Given the description of an element on the screen output the (x, y) to click on. 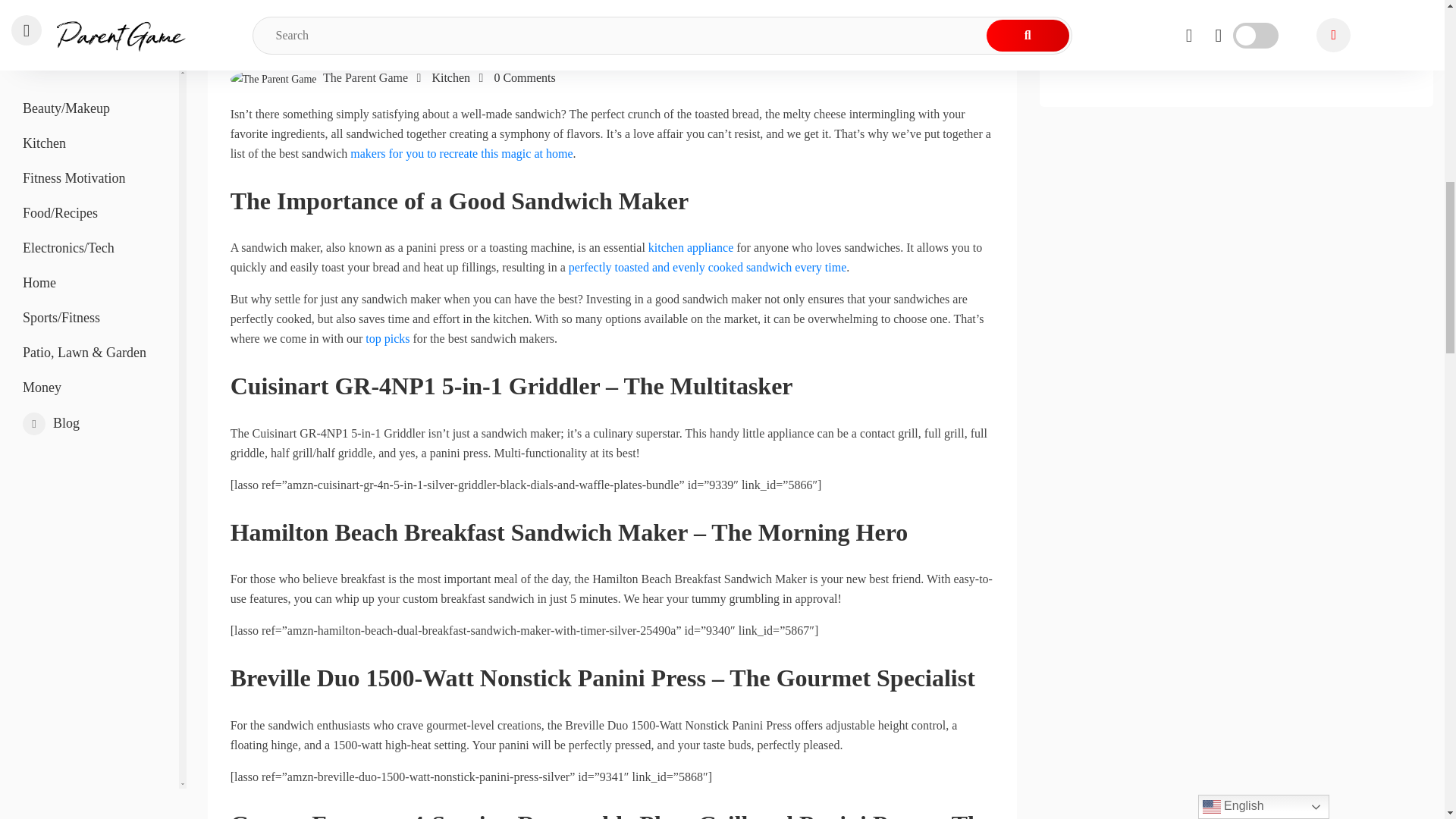
kitchen appliance (690, 246)
Kitchen (450, 77)
0 Comments (523, 77)
makers for you to recreate this magic at home (461, 153)
perfectly toasted and evenly cooked sandwich every time (708, 267)
top picks (387, 338)
